Given the description of an element on the screen output the (x, y) to click on. 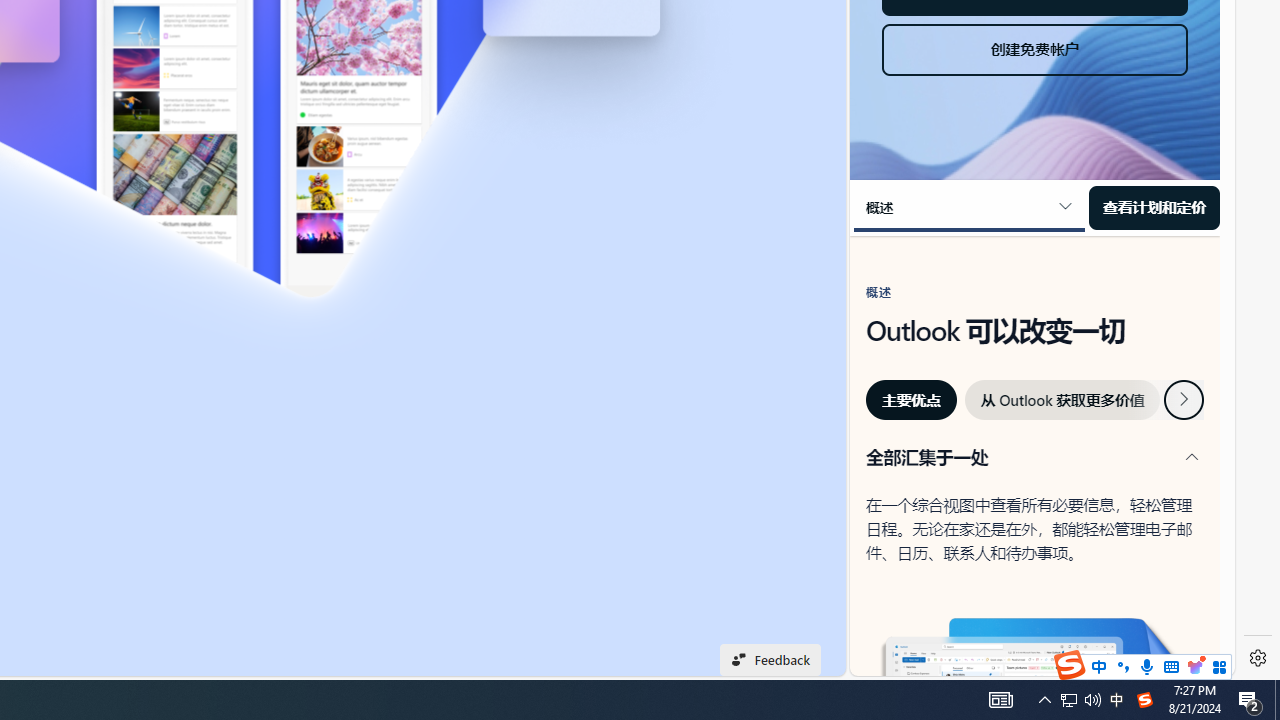
Feedback (769, 659)
Settings (1258, 658)
